Given the description of an element on the screen output the (x, y) to click on. 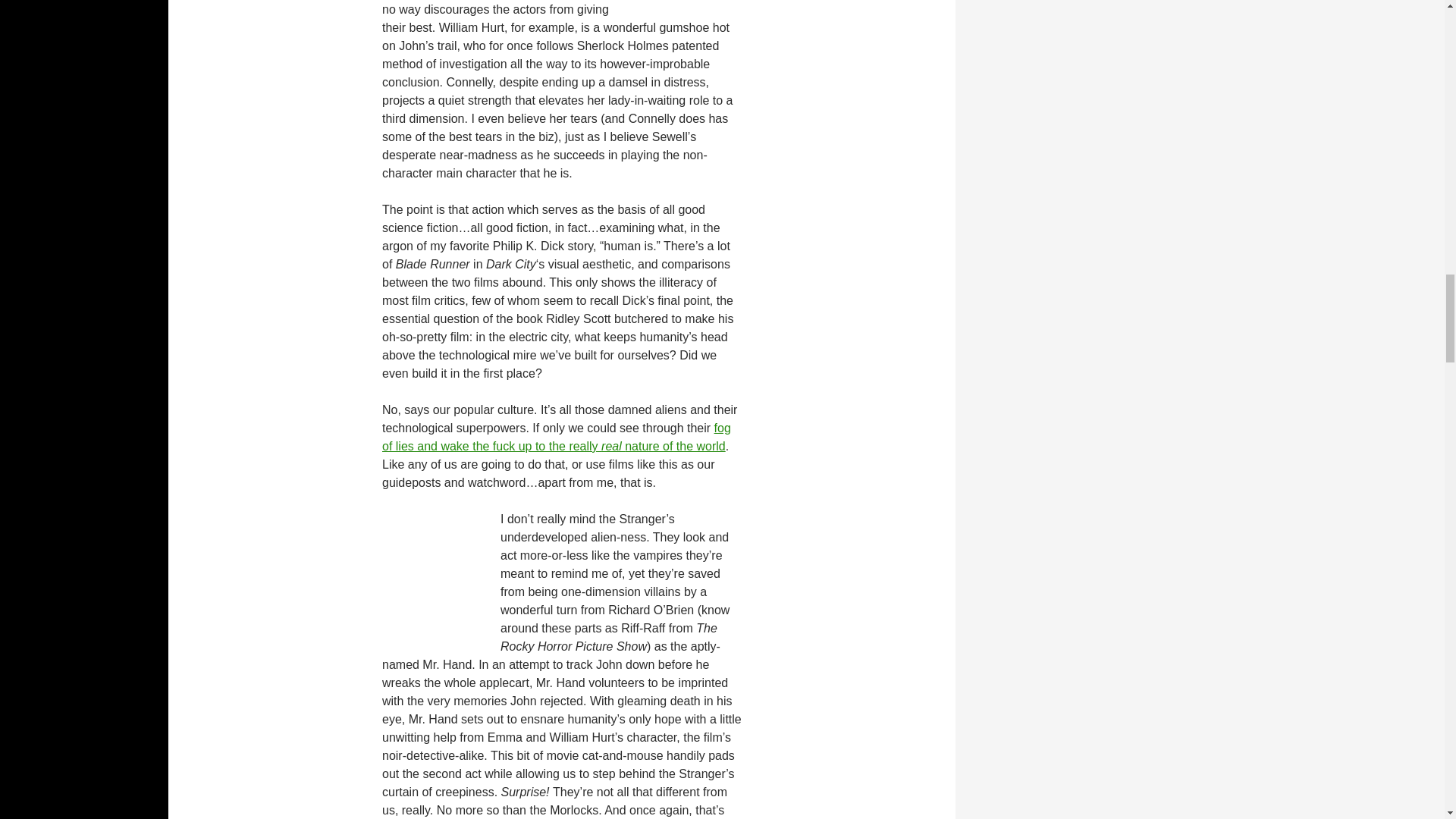
Marquees you'd love to see. (367, 579)
Get your German Expressionism on, too... (755, 3)
